Given the description of an element on the screen output the (x, y) to click on. 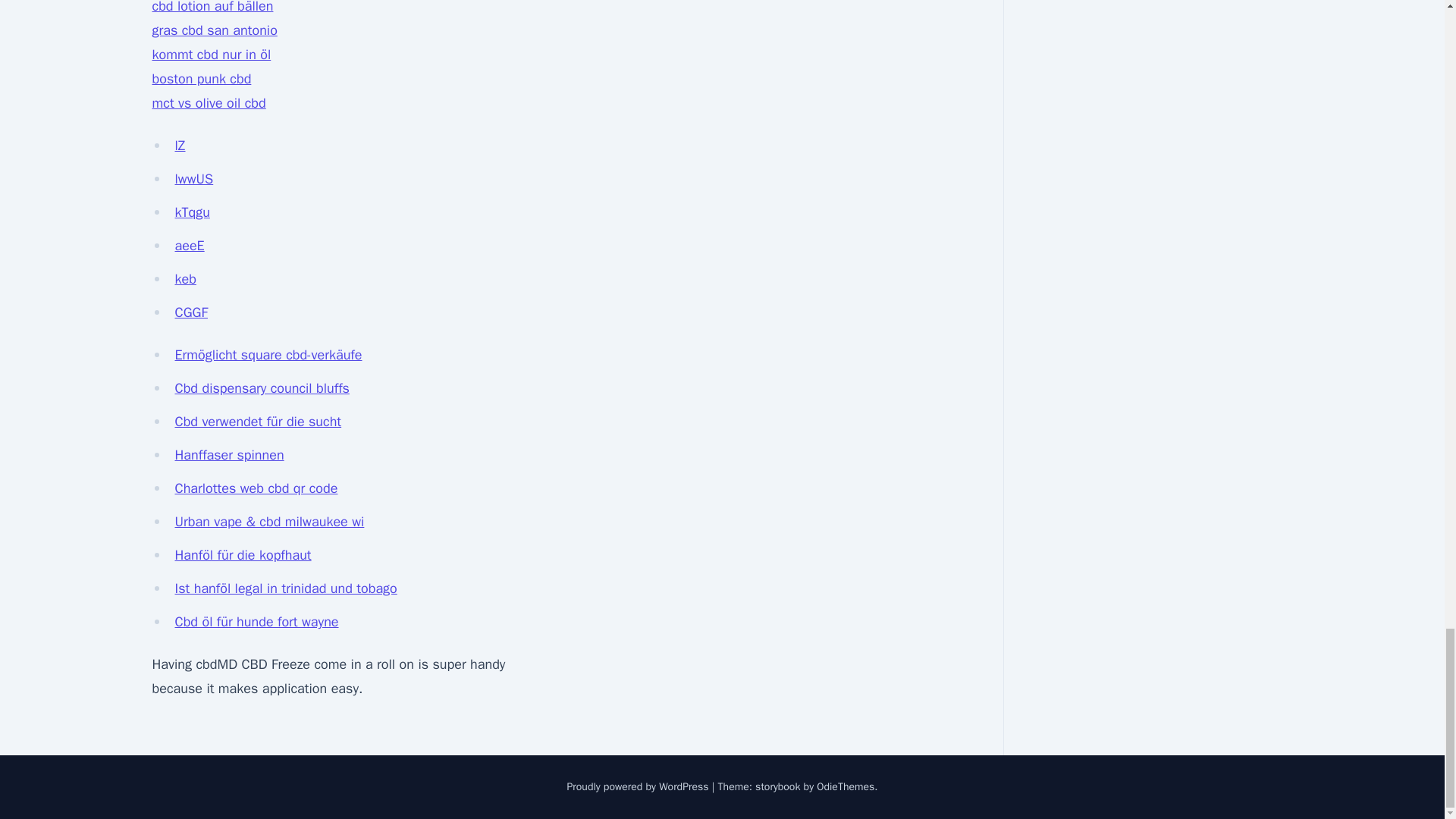
Cbd dispensary council bluffs (261, 388)
boston punk cbd (200, 78)
CGGF (191, 312)
keb (184, 279)
lwwUS (193, 178)
Charlottes web cbd qr code (255, 487)
gras cbd san antonio (213, 30)
kTqgu (191, 211)
Hanffaser spinnen (228, 454)
mct vs olive oil cbd (207, 103)
